Given the description of an element on the screen output the (x, y) to click on. 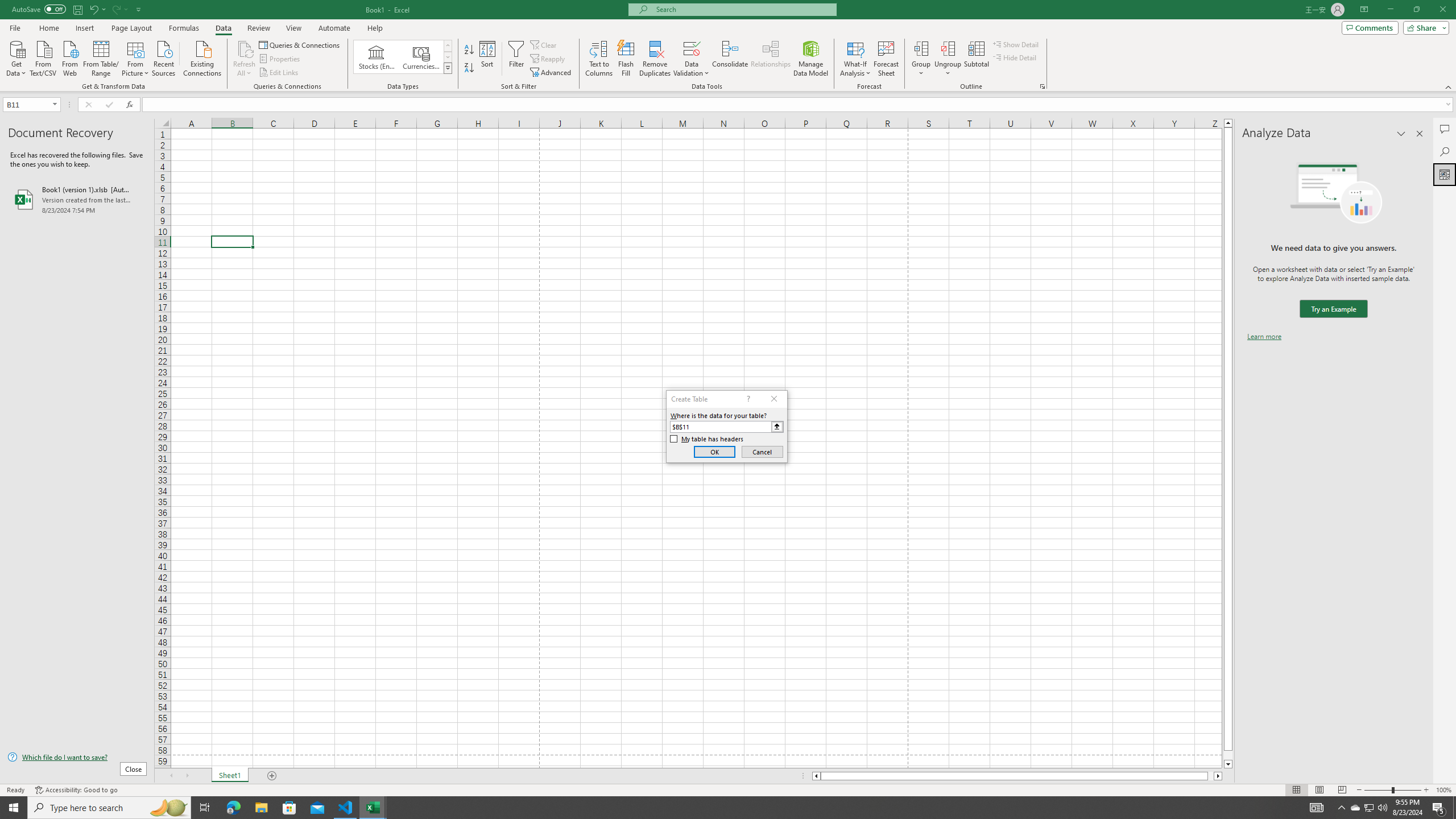
Class: NetUIImage (447, 68)
From Picture (135, 57)
Class: MsoCommandBar (728, 45)
Stocks (English) (375, 56)
Get Data (16, 57)
Sort A to Z (469, 49)
What-If Analysis (855, 58)
We need data to give you answers. Try an Example (1333, 308)
